Given the description of an element on the screen output the (x, y) to click on. 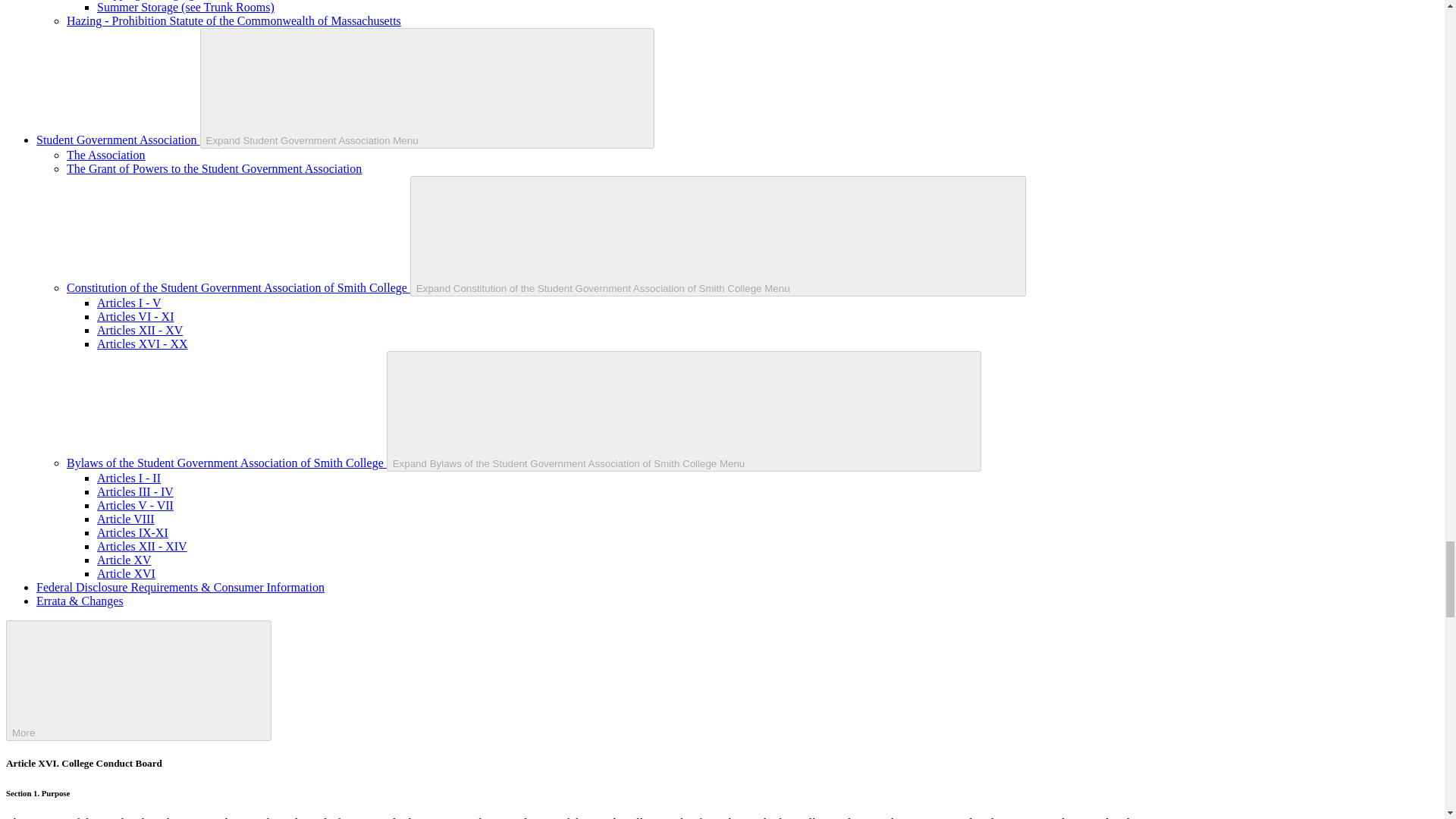
More (137, 680)
